Given the description of an element on the screen output the (x, y) to click on. 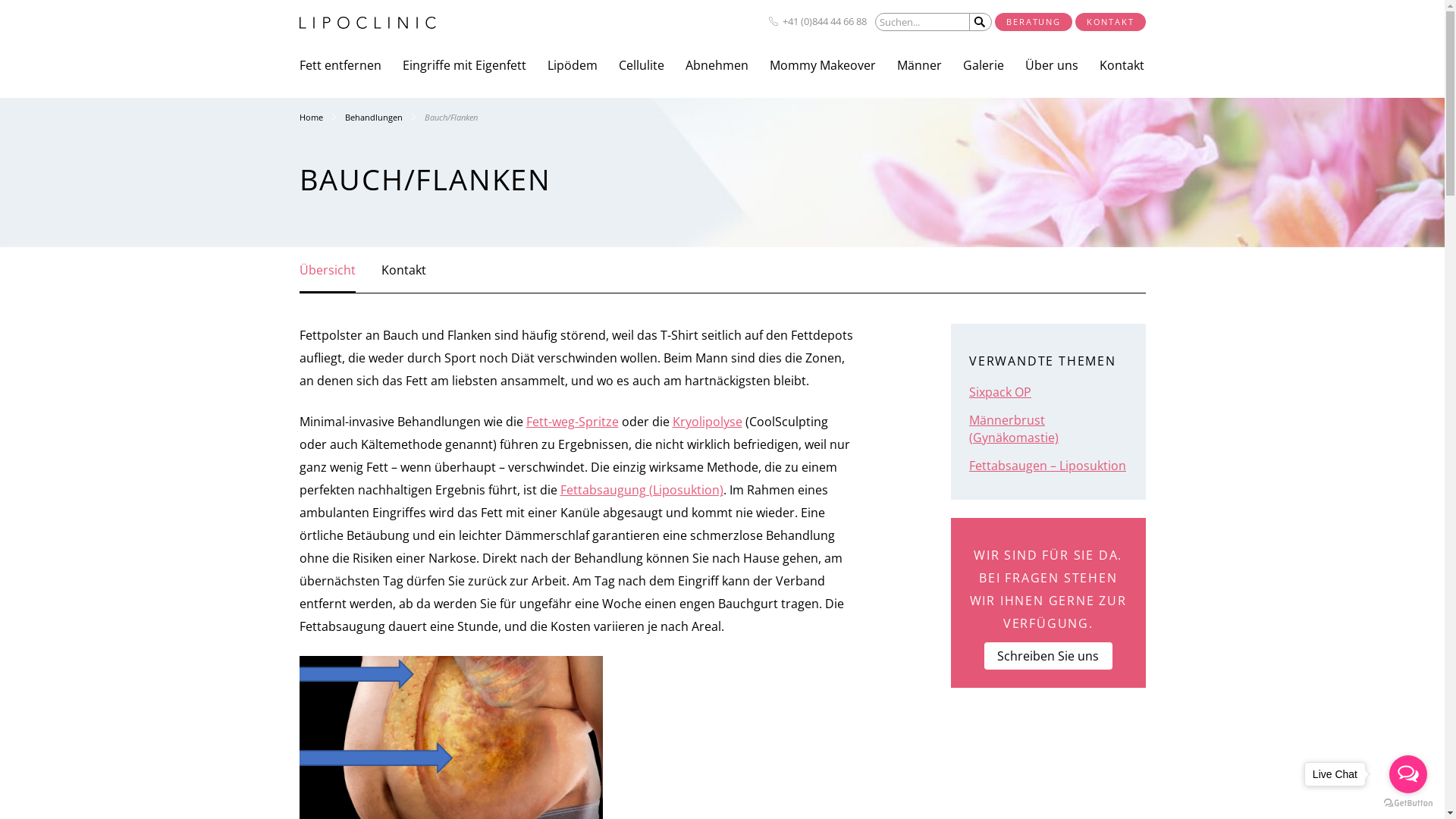
Home Element type: text (321, 116)
Fettabsaugung (Liposuktion) Element type: text (640, 489)
Cellulite Element type: text (641, 65)
Schreiben Sie uns Element type: text (1048, 655)
KONTAKT Element type: text (1110, 21)
Fett-weg-Spritze Element type: text (572, 421)
Galerie Element type: text (983, 65)
Kryolipolyse Element type: text (706, 421)
Abnehmen Element type: text (716, 65)
Kontakt Element type: text (402, 269)
Mommy Makeover Element type: text (821, 65)
Fett entfernen Element type: text (339, 65)
Behandlungen Element type: text (383, 116)
Eingriffe mit Eigenfett Element type: text (463, 65)
BERATUNG Element type: text (1032, 21)
Kontakt Element type: text (1121, 65)
Sixpack OP Element type: text (1000, 391)
